Given the description of an element on the screen output the (x, y) to click on. 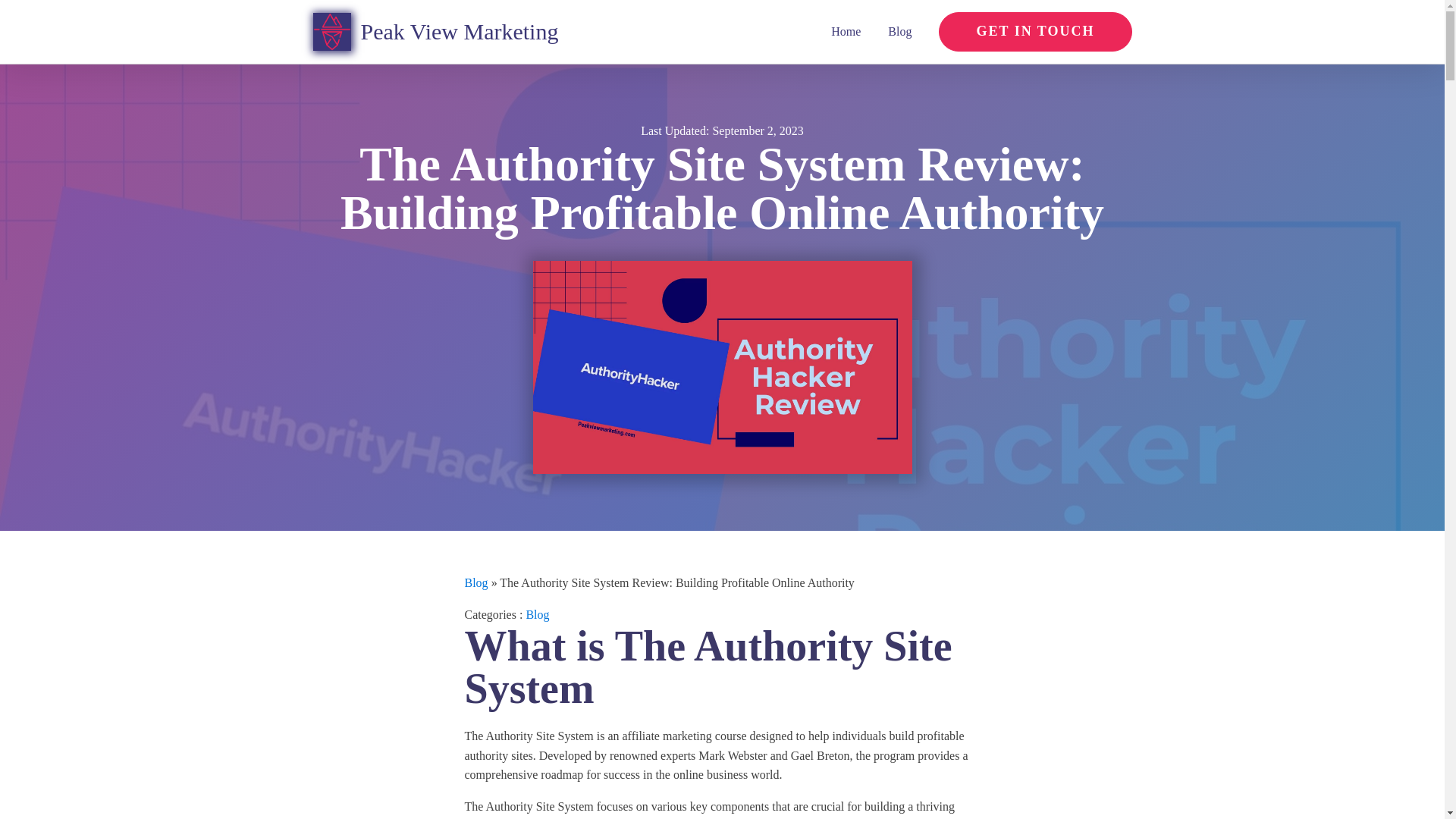
Blog (536, 614)
Peak View Marketing (435, 31)
Home (845, 31)
GET IN TOUCH (1035, 31)
Blog (475, 582)
Blog (899, 31)
